Given the description of an element on the screen output the (x, y) to click on. 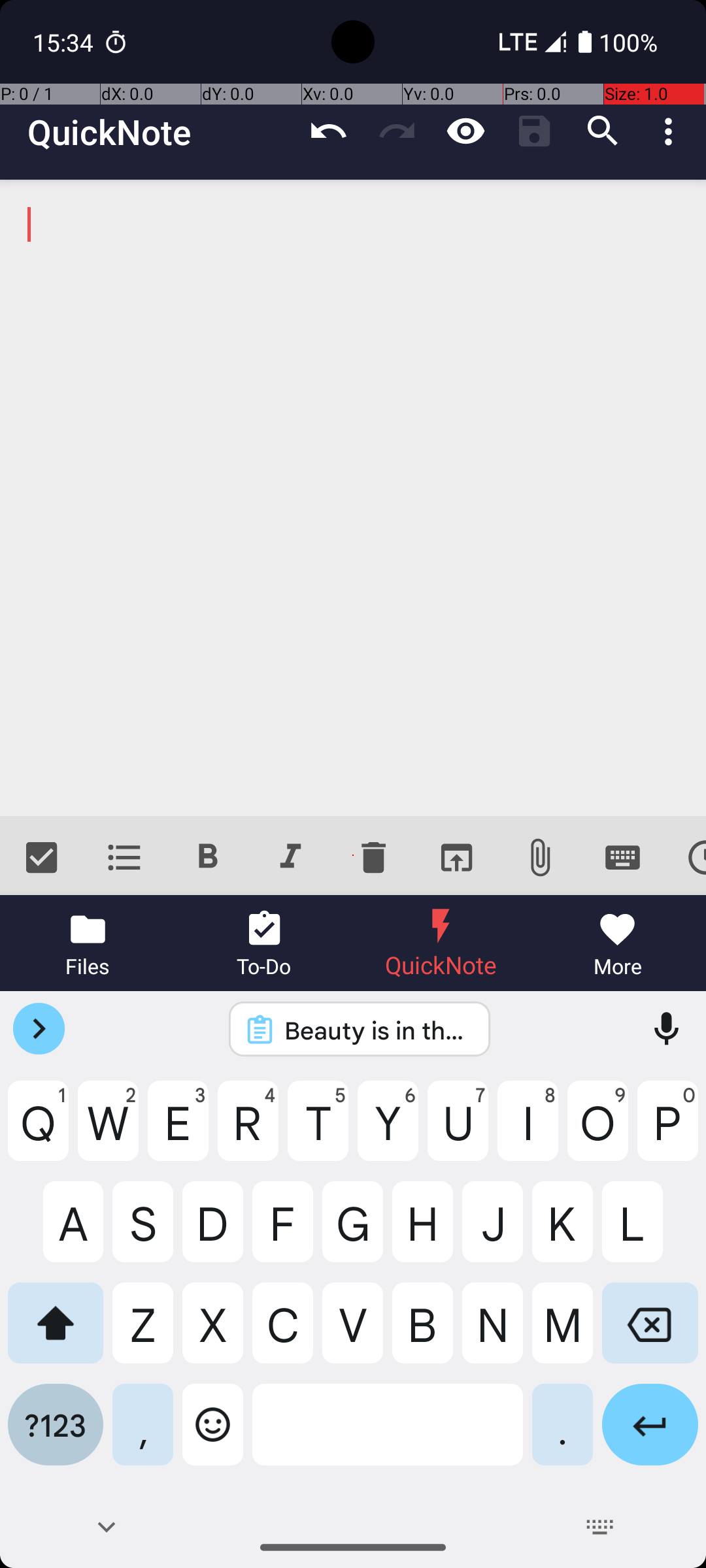
Beauty is in the eye of the beholder. Element type: android.widget.TextView (376, 1029)
